Given the description of an element on the screen output the (x, y) to click on. 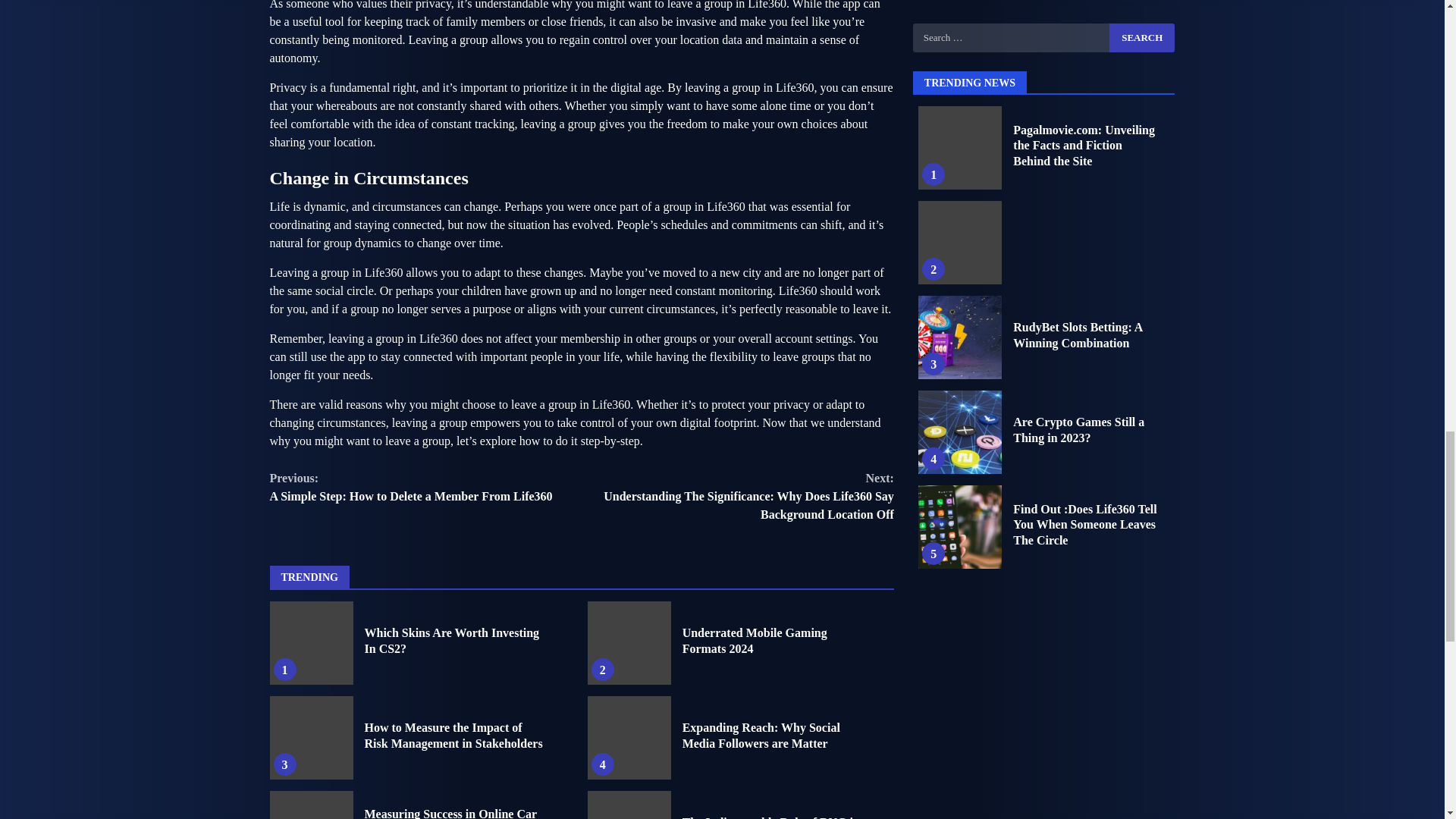
Underrated Mobile Gaming Formats 2024 (754, 640)
How to Measure the Impact of Risk Management in Stakeholders (425, 487)
Underrated Mobile Gaming Formats 2024 (311, 737)
Which Skins Are Worth Investing In CS2? (629, 642)
How to Measure the Impact of Risk Management in Stakeholders (451, 640)
The Indispensable Role of RNG in Online Bingo (452, 735)
Expanding Reach: Why Social Media Followers are Matter (629, 805)
